Given the description of an element on the screen output the (x, y) to click on. 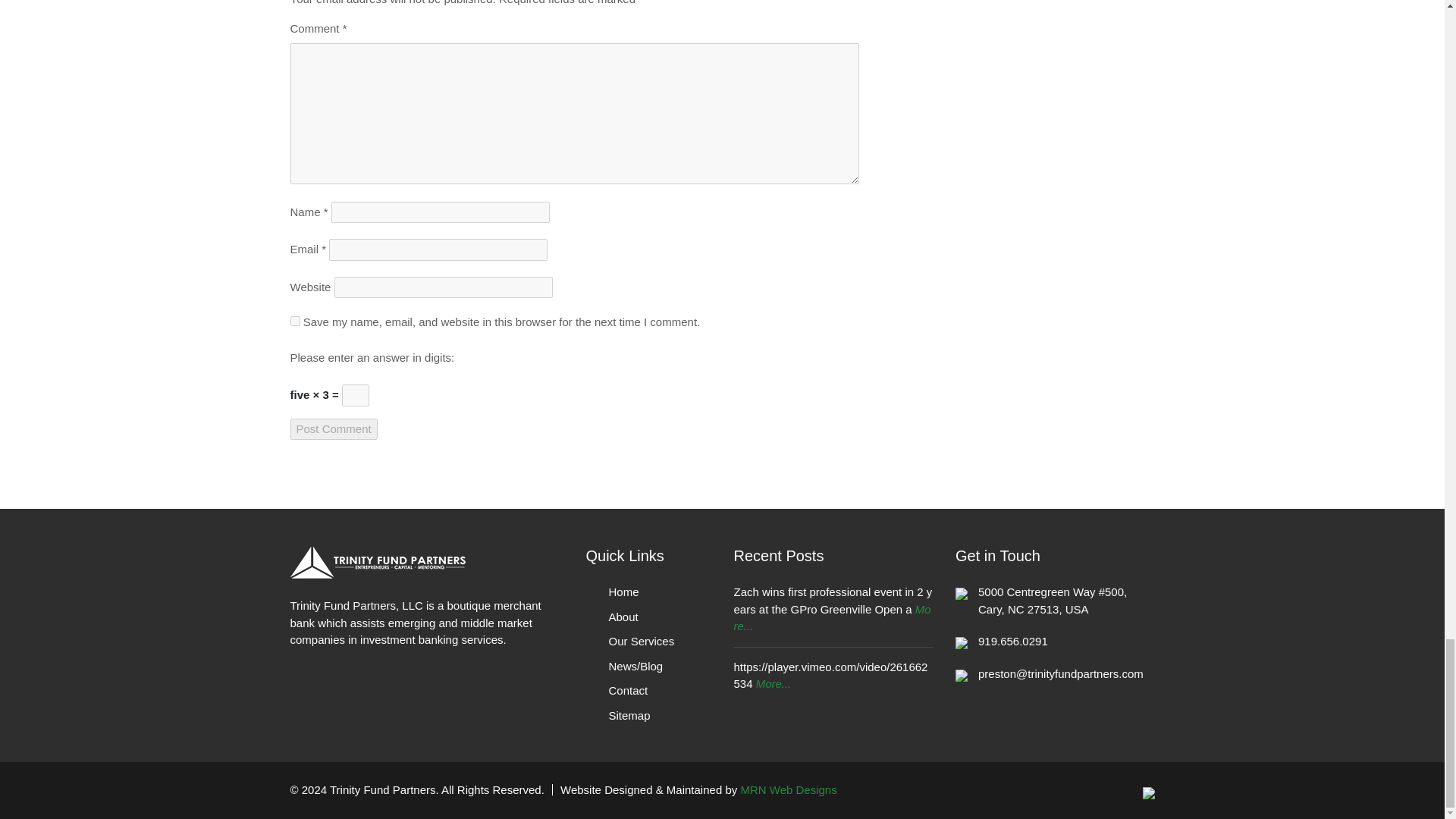
About (622, 616)
yes (294, 320)
Contact (627, 689)
Sitemap (628, 715)
Post Comment (333, 429)
Home (623, 591)
Post Comment (333, 429)
Our Services (641, 640)
